Given the description of an element on the screen output the (x, y) to click on. 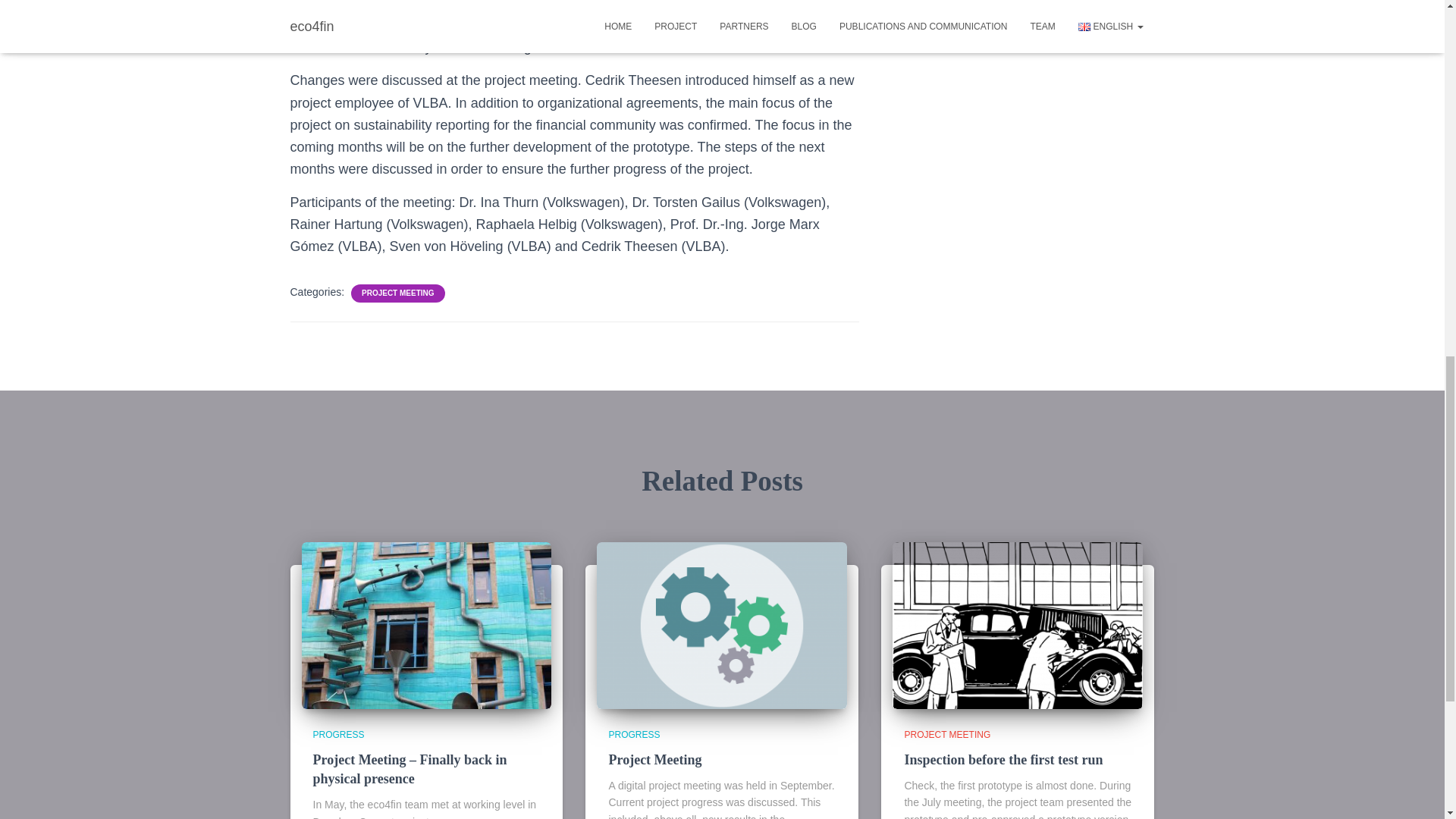
Project Meeting (721, 624)
Inspection before the first test run (1003, 759)
View all posts in Progress (338, 734)
Project Meeting (654, 759)
Inspection before the first test run (1017, 624)
View all posts in Progress (633, 734)
PROJECT MEETING (397, 293)
PROJECT MEETING (947, 734)
PROGRESS (338, 734)
Project Meeting (654, 759)
